Given the description of an element on the screen output the (x, y) to click on. 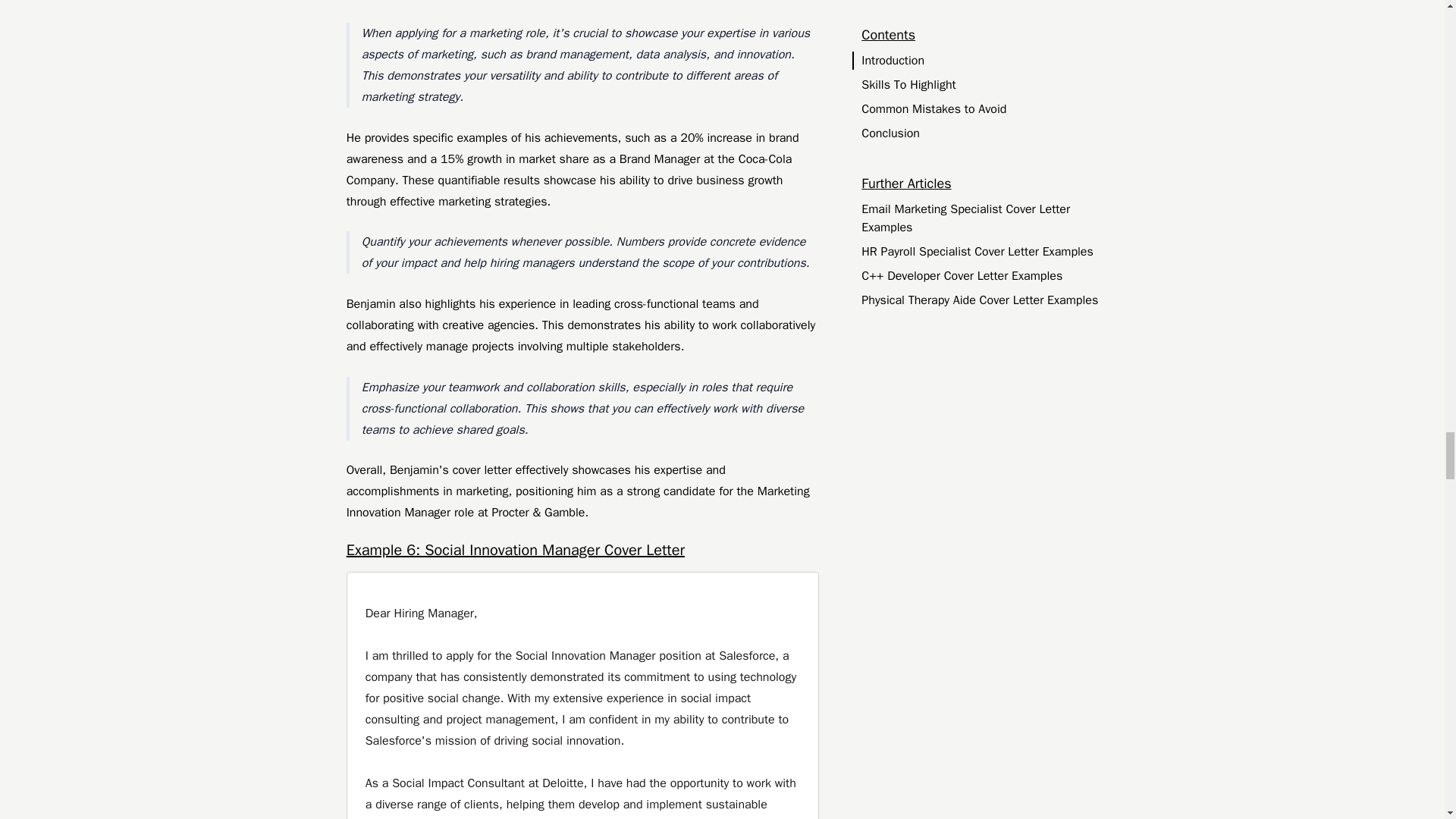
Example 6: Social Innovation Manager Cover Letter (582, 550)
